Given the description of an element on the screen output the (x, y) to click on. 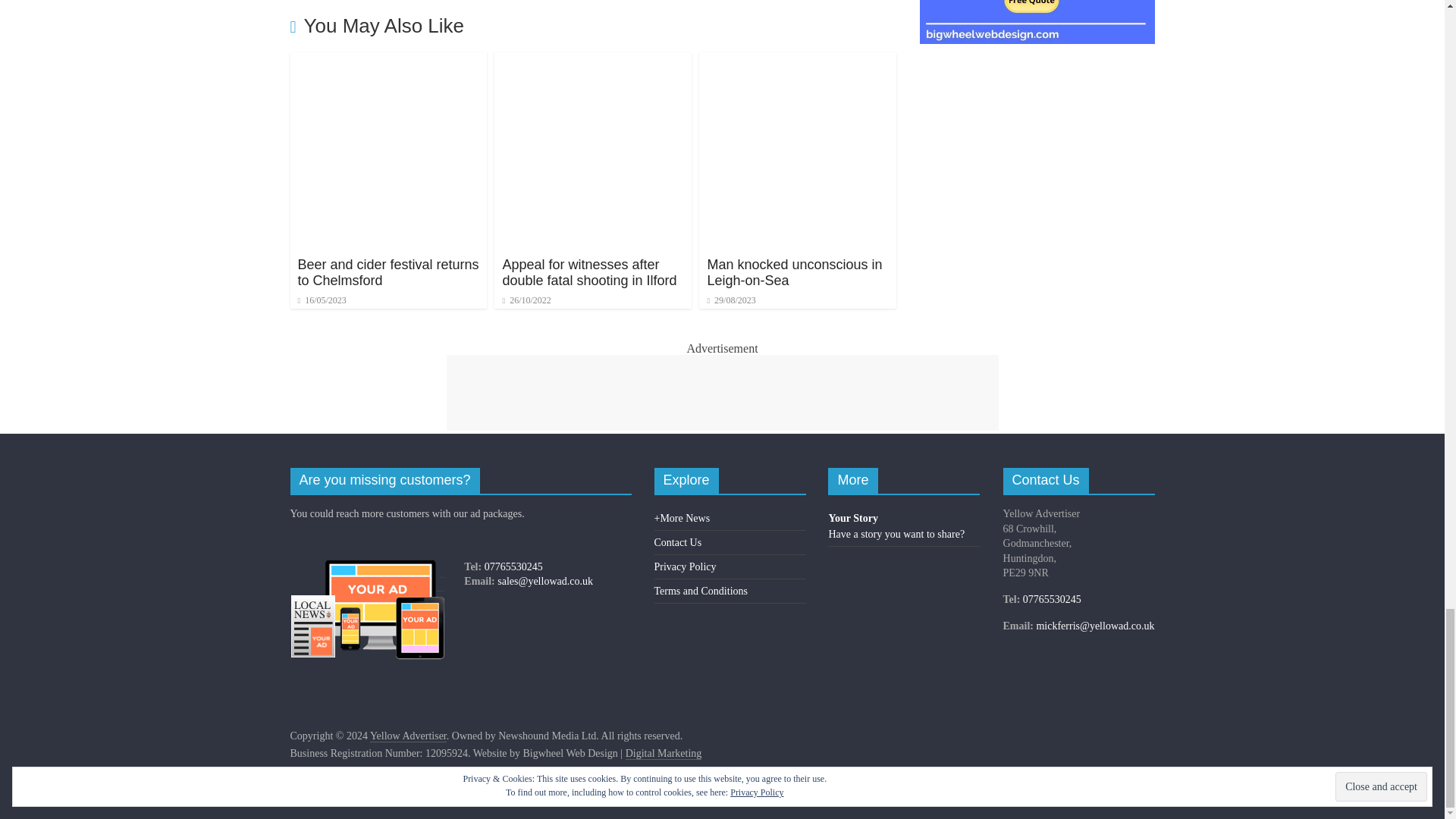
Beer and cider festival returns to Chelmsford (388, 273)
7:37 pm (321, 299)
Beer and cider festival returns to Chelmsford (387, 61)
